Given the description of an element on the screen output the (x, y) to click on. 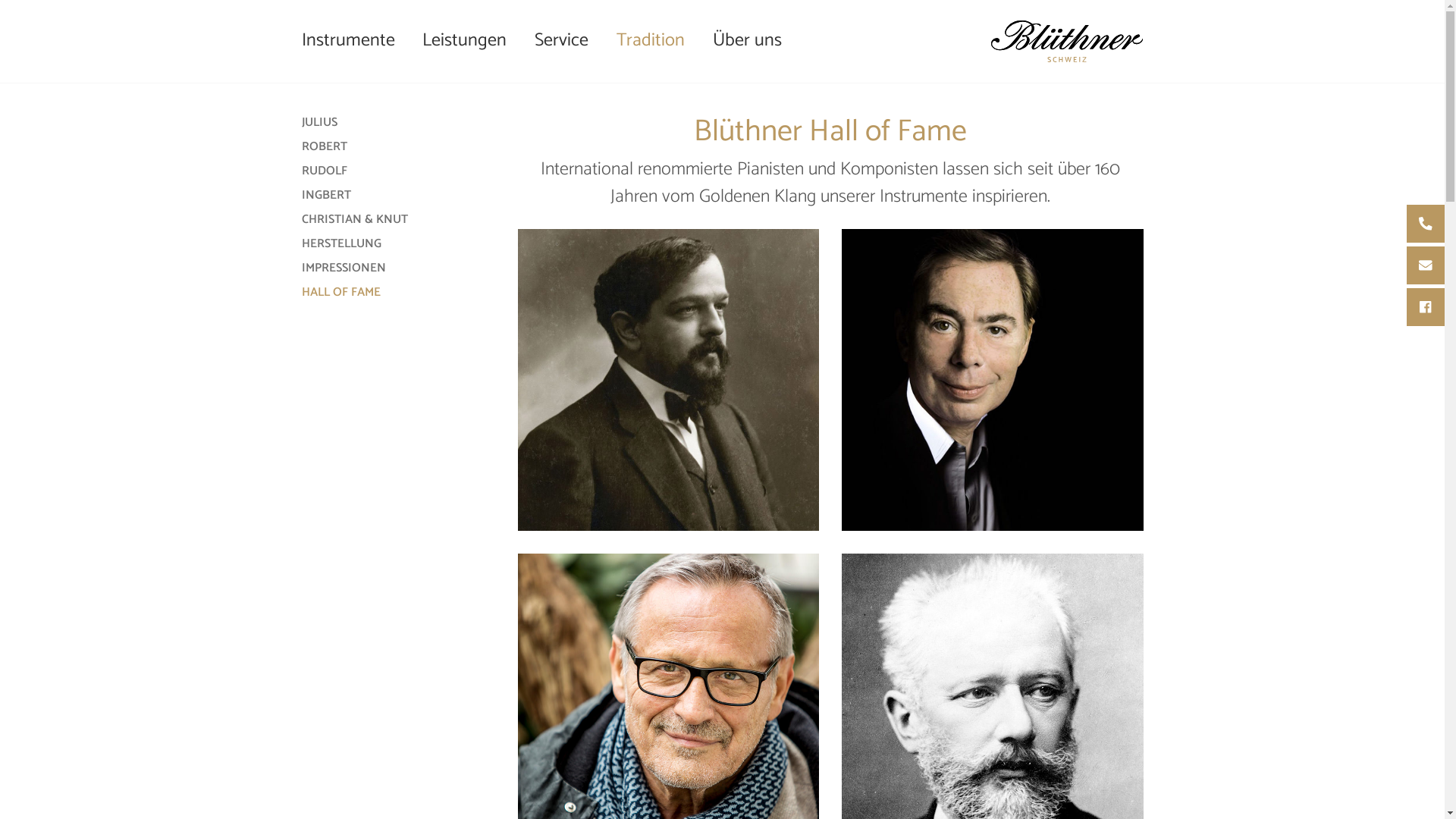
HALL OF FAME Element type: text (340, 292)
INGBERT Element type: text (326, 195)
Service Element type: text (561, 40)
Instrumente Element type: text (354, 40)
Leistungen Element type: text (464, 40)
JULIUS Element type: text (319, 122)
HERSTELLUNG Element type: text (341, 243)
ROBERT Element type: text (324, 146)
CHRISTIAN & KNUT Element type: text (354, 219)
Tradition Element type: text (650, 40)
RUDOLF Element type: text (324, 170)
IMPRESSIONEN Element type: text (343, 267)
